Given the description of an element on the screen output the (x, y) to click on. 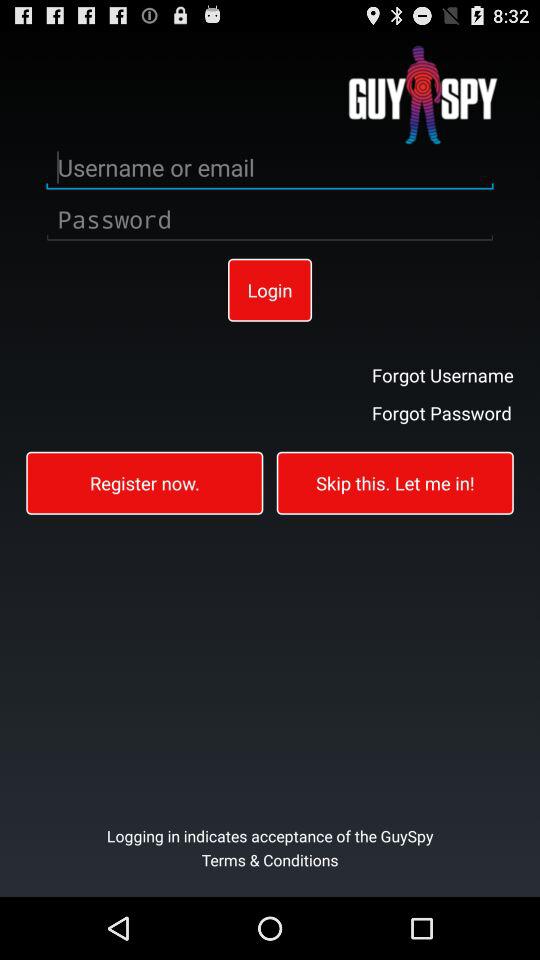
enter username or email (270, 168)
